Given the description of an element on the screen output the (x, y) to click on. 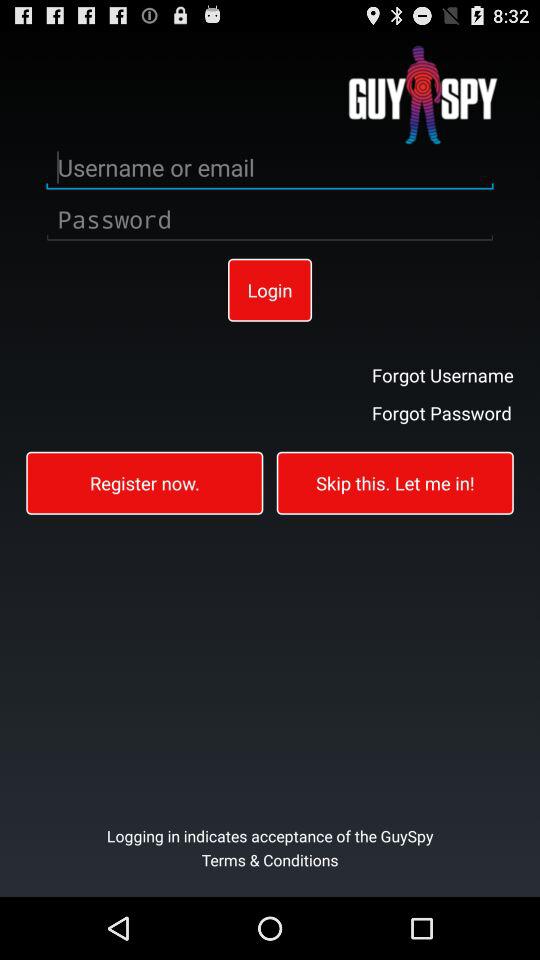
enter username or email (270, 168)
